Given the description of an element on the screen output the (x, y) to click on. 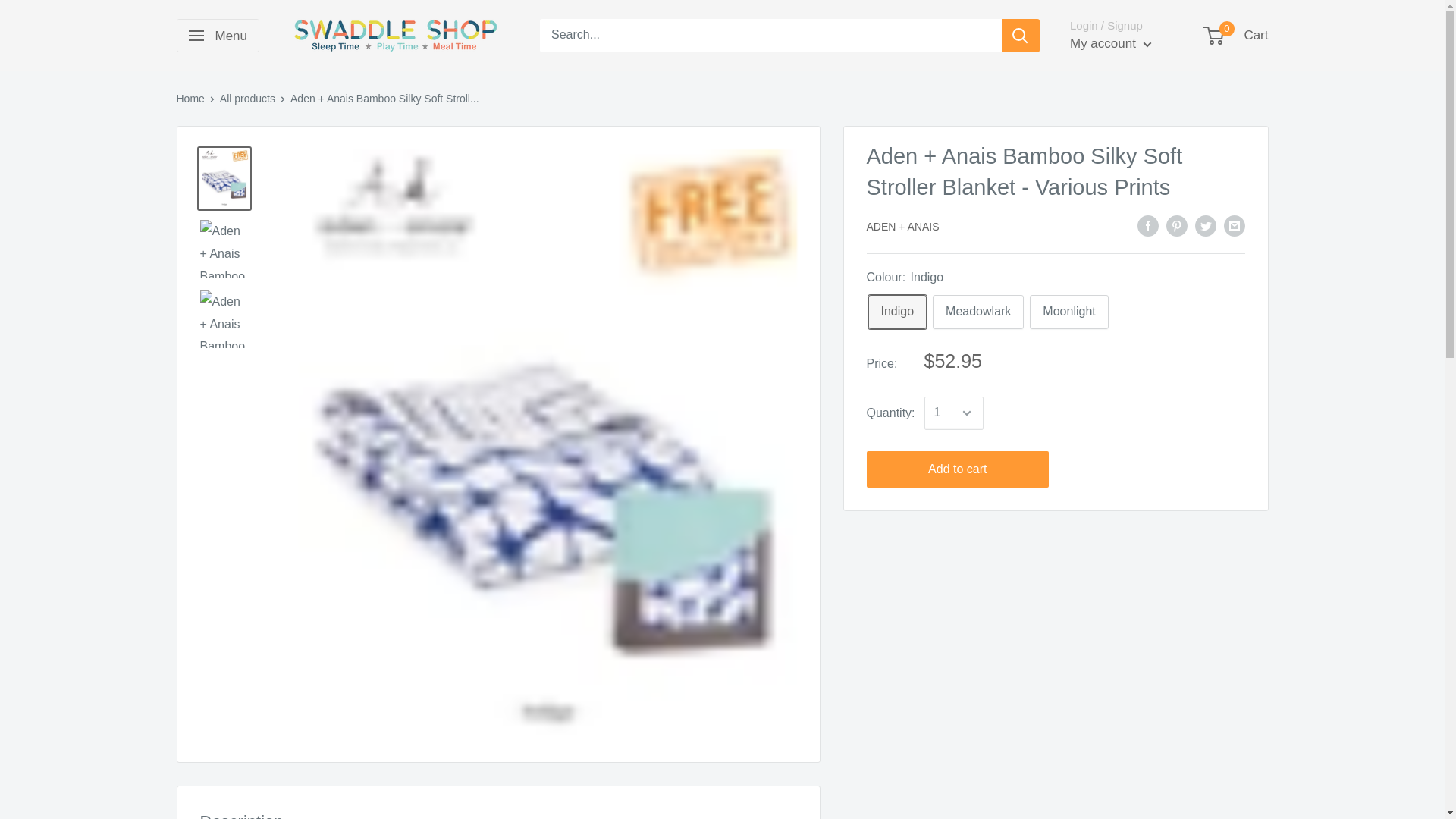
Indigo (896, 311)
Meadowlark (978, 311)
Moonlight (1068, 311)
